Given the description of an element on the screen output the (x, y) to click on. 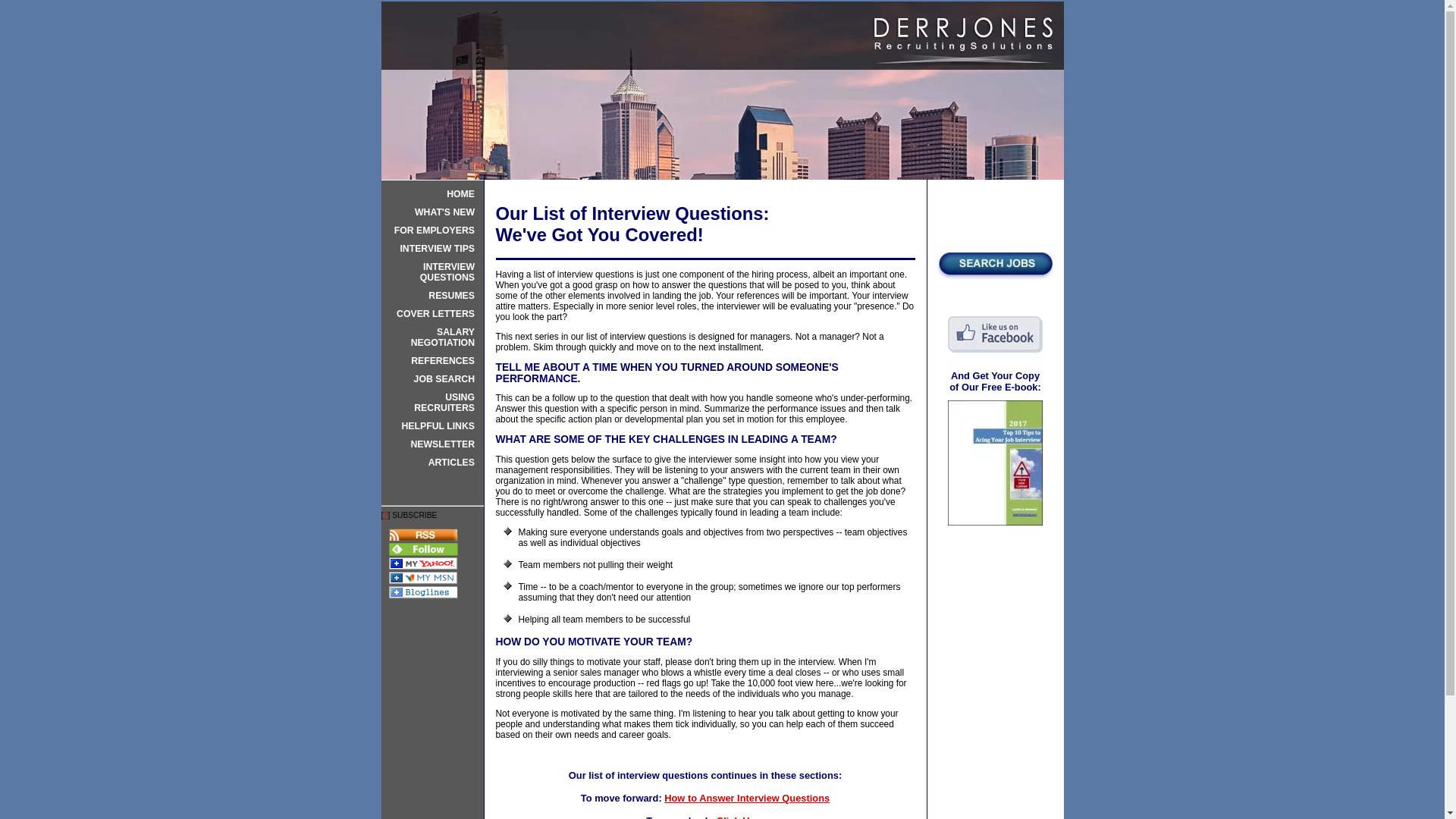
INTERVIEW QUESTIONS (432, 271)
ARTICLES (432, 462)
SALARY NEGOTIATION (432, 337)
Click Here (740, 816)
USING RECRUITERS (432, 402)
COVER LETTERS (432, 313)
NEWSLETTER (432, 443)
HOME (432, 193)
REFERENCES (432, 360)
WHAT'S NEW (432, 211)
